Given the description of an element on the screen output the (x, y) to click on. 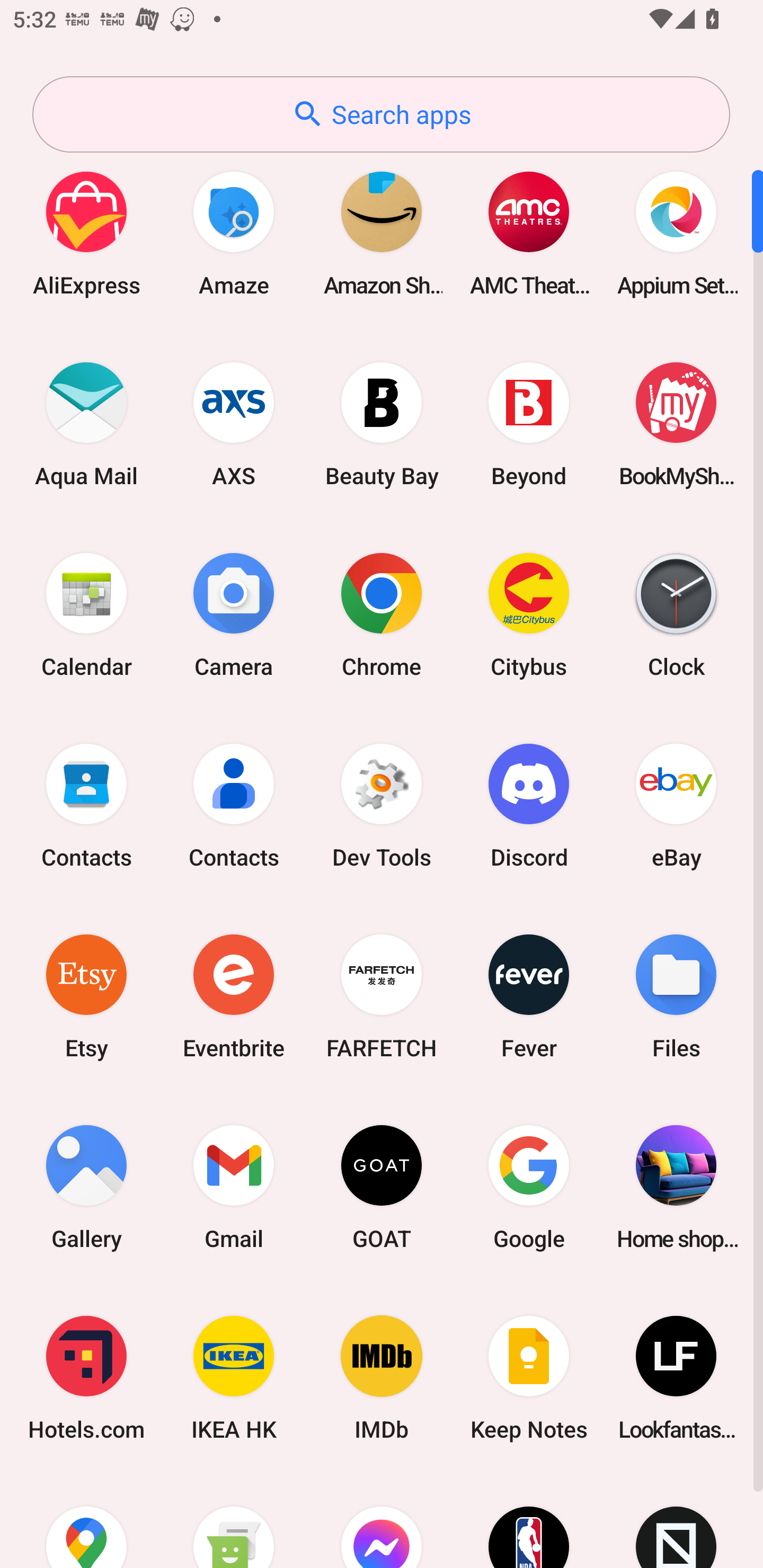
  Search apps (381, 114)
AliExpress (86, 233)
Amaze (233, 233)
Amazon Shopping (381, 233)
AMC Theatres (528, 233)
Appium Settings (676, 233)
Aqua Mail (86, 424)
AXS (233, 424)
Beauty Bay (381, 424)
Beyond (528, 424)
BookMyShow (676, 424)
Calendar (86, 614)
Camera (233, 614)
Chrome (381, 614)
Citybus (528, 614)
Clock (676, 614)
Contacts (86, 805)
Contacts (233, 805)
Dev Tools (381, 805)
Discord (528, 805)
eBay (676, 805)
Etsy (86, 996)
Eventbrite (233, 996)
FARFETCH (381, 996)
Fever (528, 996)
Files (676, 996)
Gallery (86, 1186)
Gmail (233, 1186)
GOAT (381, 1186)
Google (528, 1186)
Home shopping (676, 1186)
Hotels.com (86, 1377)
IKEA HK (233, 1377)
IMDb (381, 1377)
Keep Notes (528, 1377)
Lookfantastic (676, 1377)
Maps (86, 1520)
Messaging (233, 1520)
Messenger (381, 1520)
NBA (528, 1520)
Novelship (676, 1520)
